Given the description of an element on the screen output the (x, y) to click on. 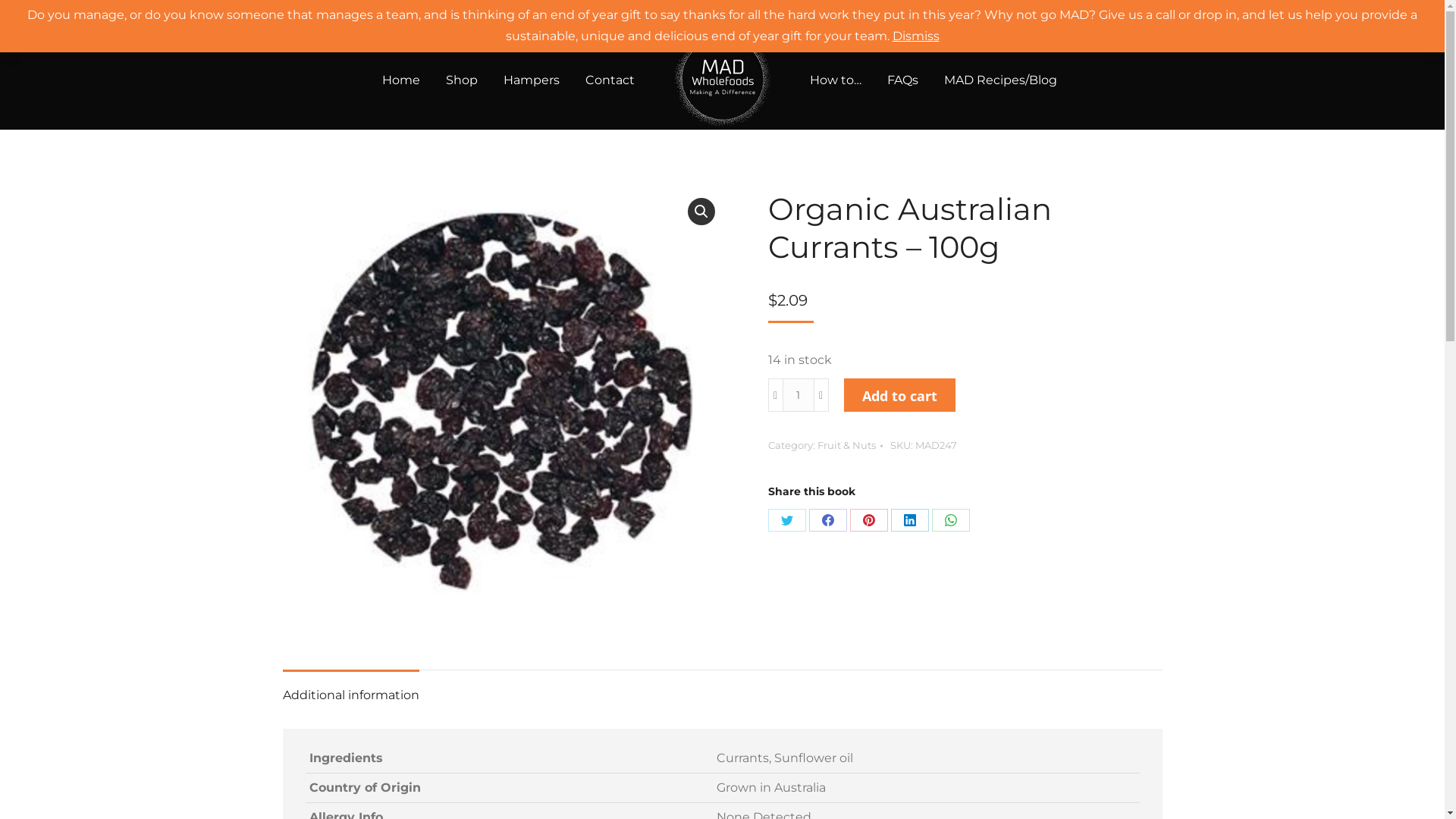
Share on WhatsApp Element type: text (950, 519)
My Account Element type: text (1124, 14)
Leave a review Element type: text (695, 14)
Go! Element type: text (23, 16)
Fruit & Nuts Element type: text (846, 445)
FAQs Element type: text (902, 79)
organic currents Element type: hover (501, 407)
Instagram page opens in new window Element type: text (959, 15)
$0.00
0 Element type: text (1042, 14)
Hampers Element type: text (531, 79)
Newsletter signup Element type: text (803, 14)
Facebook page opens in new window Element type: text (936, 15)
MAD Recipes/Blog Element type: text (1000, 79)
Share on Facebook Element type: text (827, 519)
Contact Element type: text (609, 79)
Share on Twitter Element type: text (786, 519)
Dismiss Element type: text (914, 35)
Home Element type: text (401, 79)
Shop Element type: text (461, 79)
Add to cart Element type: text (898, 394)
Share on Pinterest Element type: text (868, 519)
Share on LinkedIn Element type: text (909, 519)
Additional information Element type: text (350, 694)
